Given the description of an element on the screen output the (x, y) to click on. 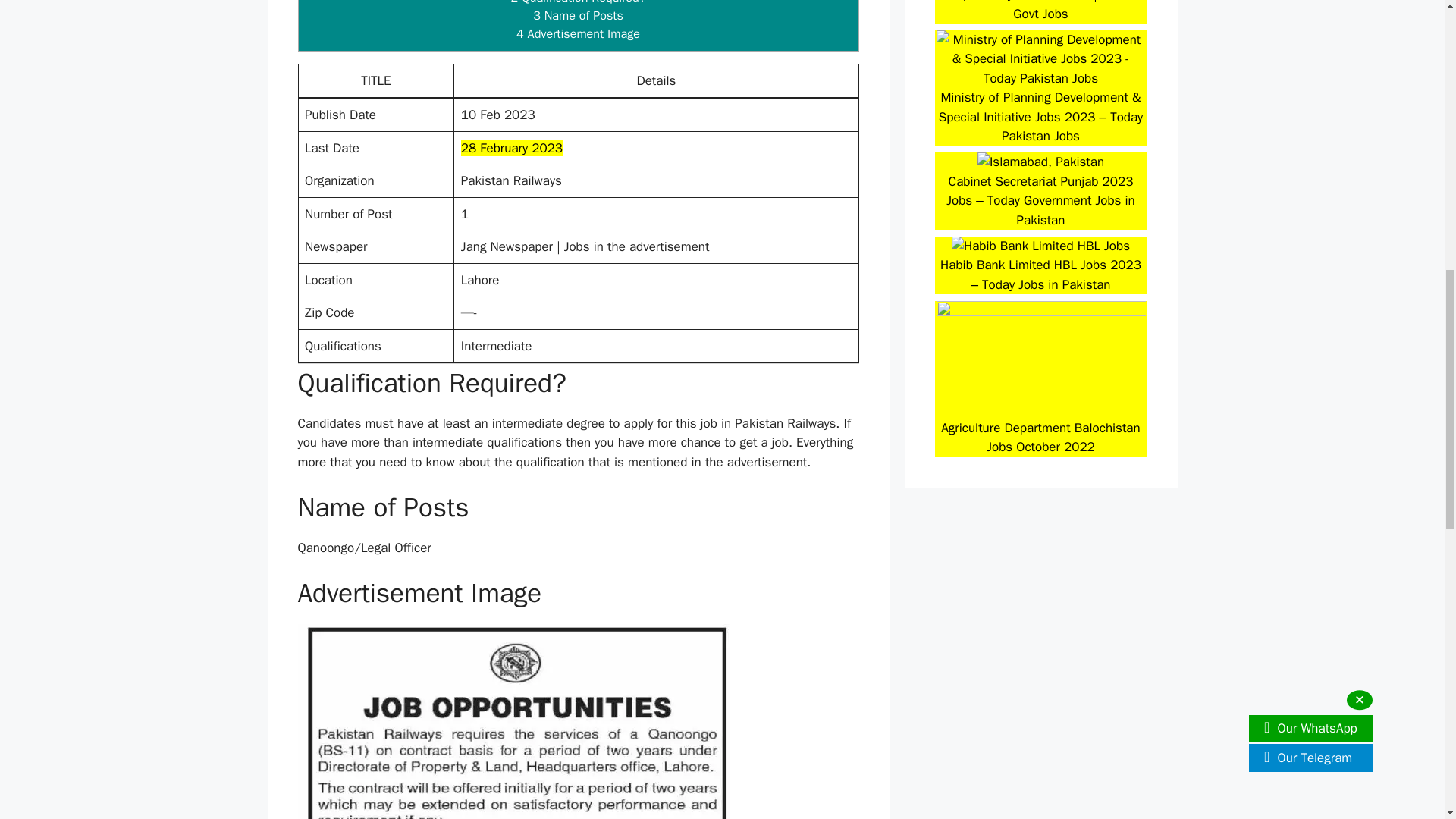
2 Qualification Required? (578, 2)
3 Name of Posts (577, 15)
4 Advertisement Image (578, 33)
